Given the description of an element on the screen output the (x, y) to click on. 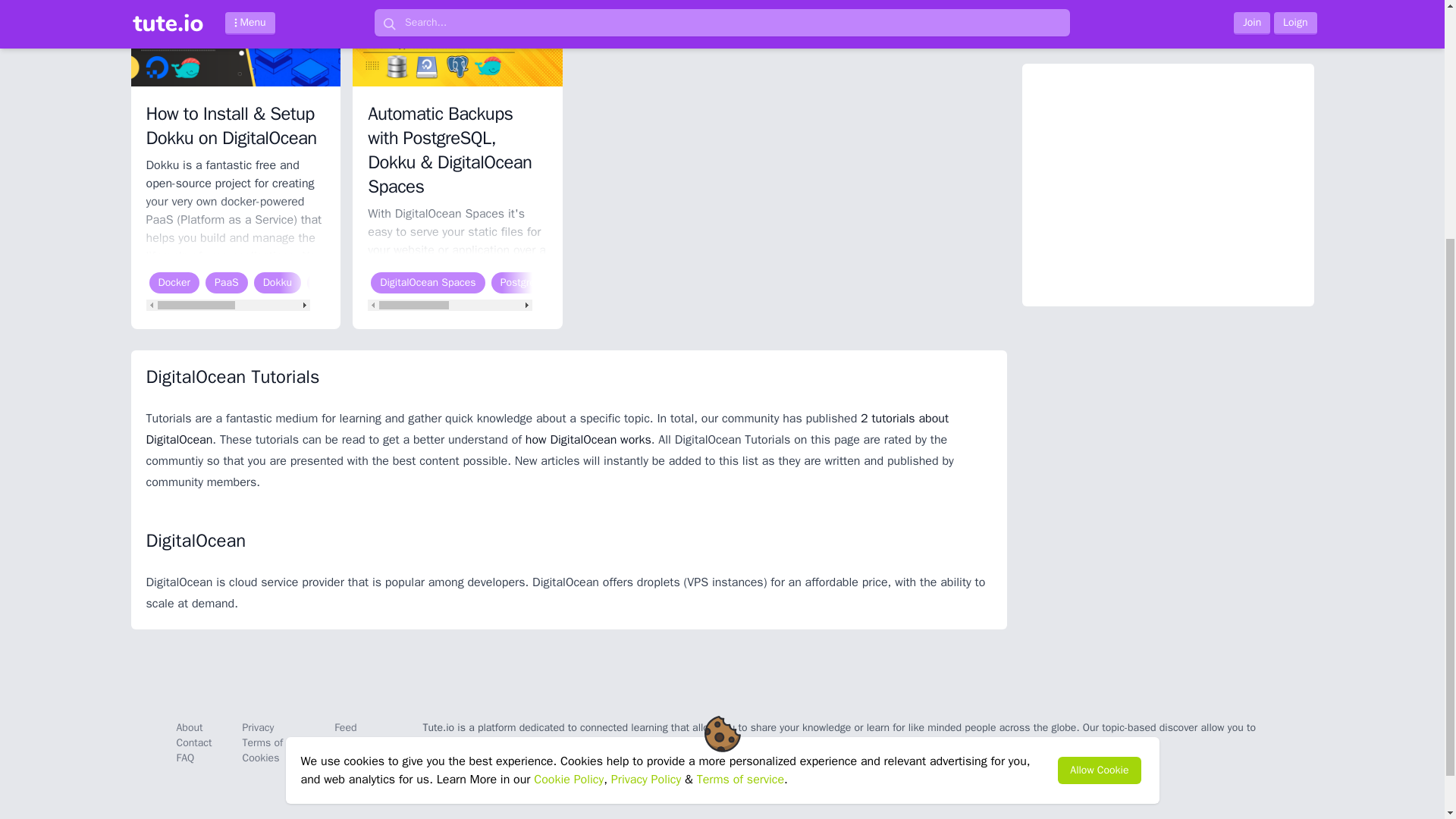
Terms of Use (272, 742)
Terms of service (740, 432)
About (189, 727)
Dokku (675, 282)
Privacy (257, 727)
Allow Cookie (1099, 422)
FAQ (184, 757)
DigitalOcean (405, 282)
Cookies (260, 757)
DigitalOcean Spaces (427, 282)
PaaS (226, 282)
Dokku (277, 282)
Privacy Policy (646, 432)
Docker (173, 282)
Contact (193, 742)
